Given the description of an element on the screen output the (x, y) to click on. 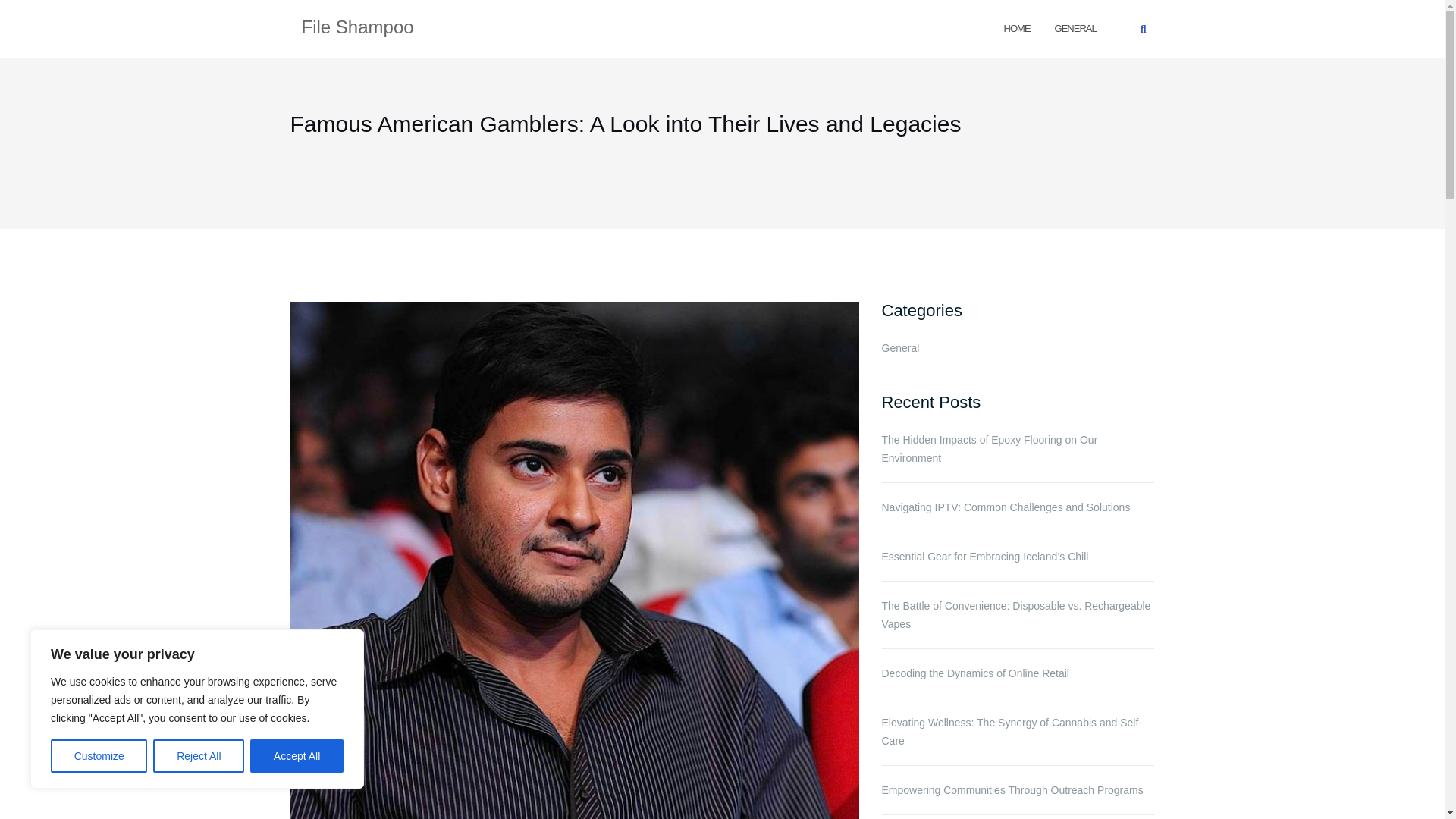
General (1075, 28)
GENERAL (1075, 28)
File Shampoo (357, 28)
Accept All (296, 756)
Reject All (198, 756)
Customize (98, 756)
